Given the description of an element on the screen output the (x, y) to click on. 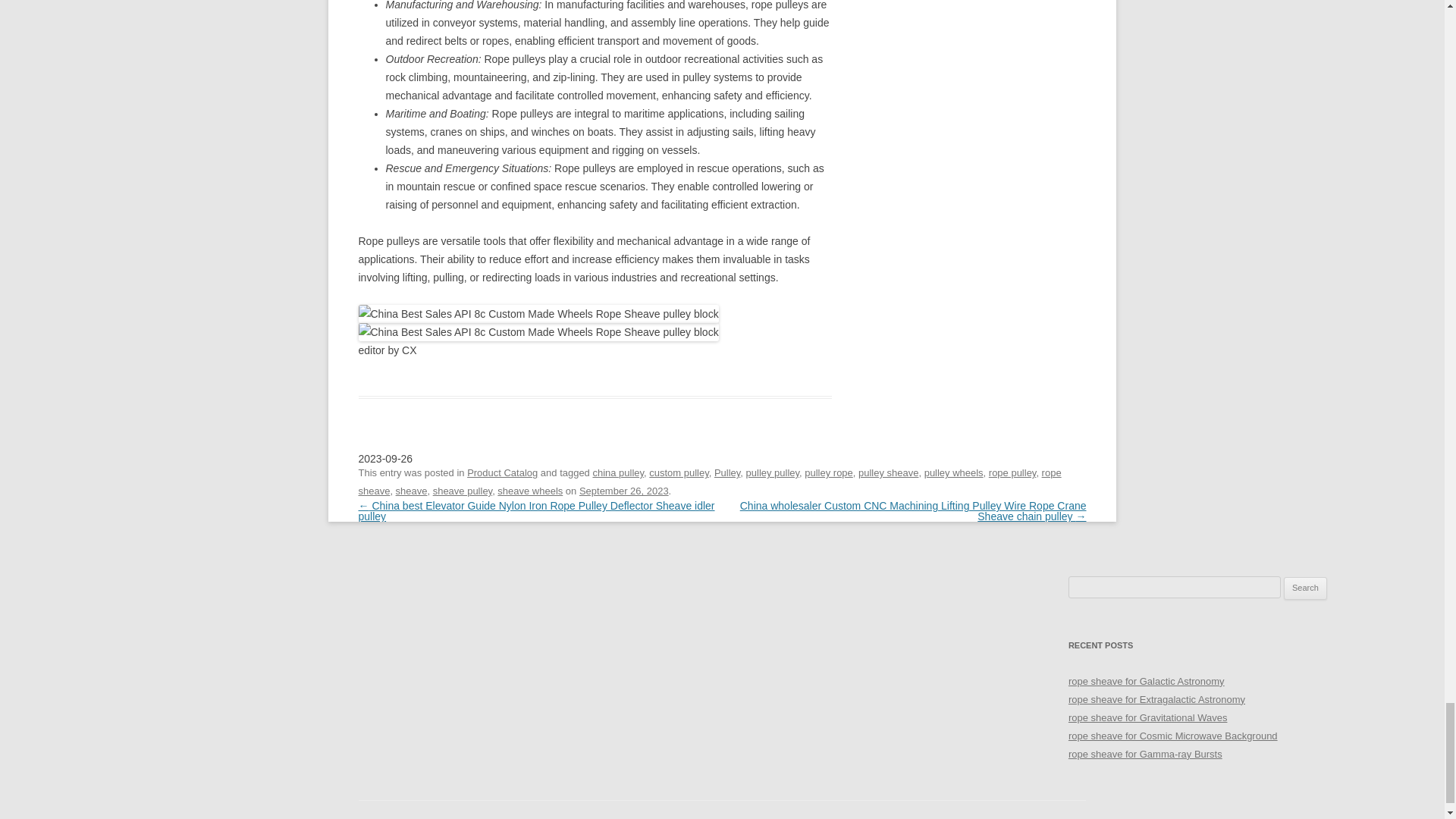
2:32 am (623, 490)
sheave pulley (462, 490)
rope sheave for Cosmic Microwave Background (1173, 736)
pulley sheave (888, 472)
rope sheave (709, 481)
rope sheave for Galactic Astronomy (1146, 681)
Pulley (726, 472)
china pulley (617, 472)
sheave wheels (529, 490)
custom pulley (678, 472)
Search (1305, 588)
rope sheave for Gravitational Waves (1147, 717)
rope sheave for Gamma-ray Bursts (1145, 754)
pulley pulley (772, 472)
rope sheave for Extragalactic Astronomy (1156, 699)
